Given the description of an element on the screen output the (x, y) to click on. 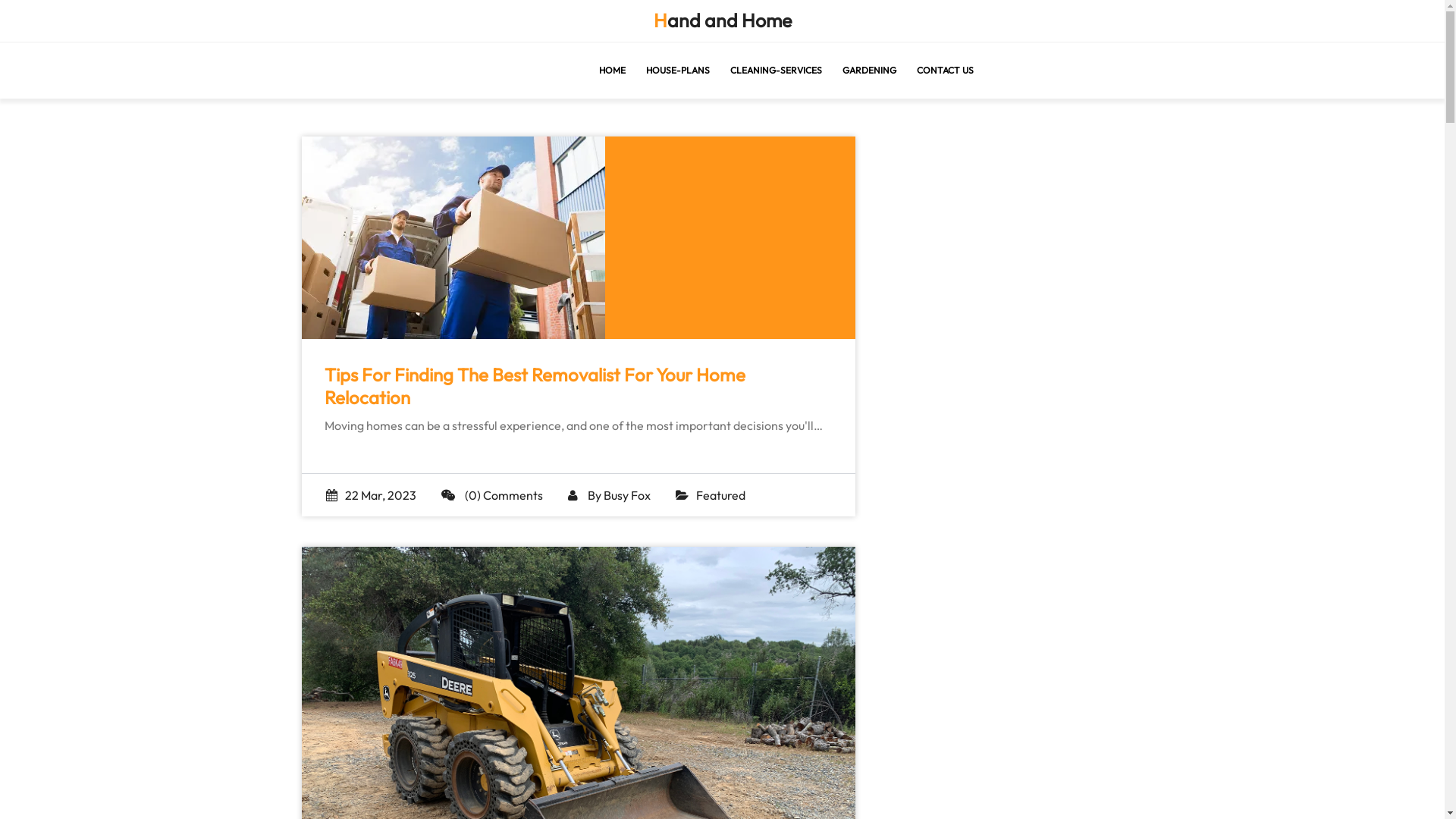
Hand and Home Element type: text (722, 20)
CONTACT US Element type: text (944, 70)
CLEANING-SERVICES Element type: text (775, 70)
(0) Comments Element type: text (491, 494)
HOME Element type: text (611, 70)
22 Mar, 2023 Element type: text (371, 494)
HOUSE-PLANS Element type: text (677, 70)
Busy Fox Element type: text (626, 494)
Featured Element type: text (720, 494)
GARDENING Element type: text (868, 70)
